Given the description of an element on the screen output the (x, y) to click on. 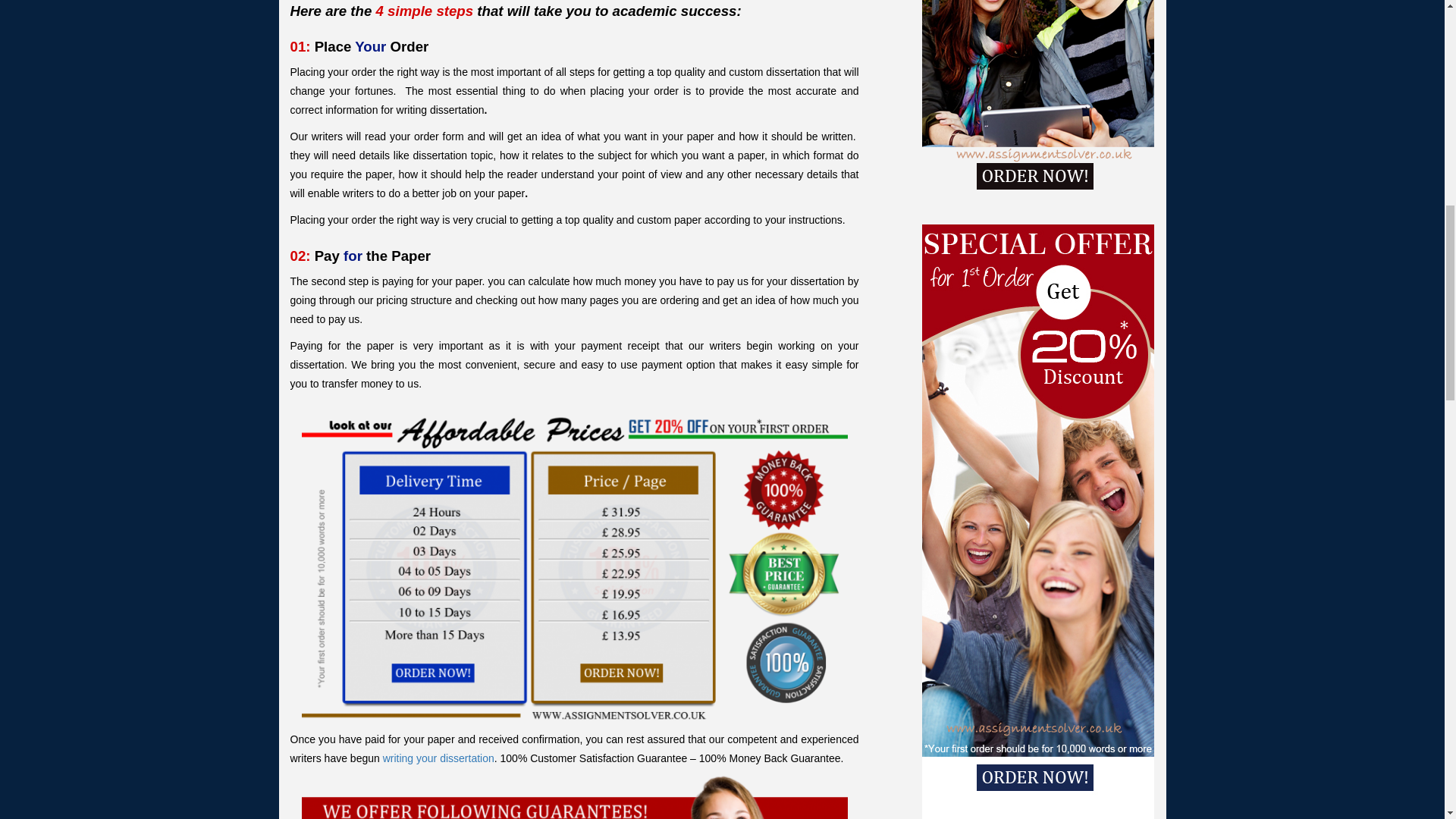
writing your dissertation (438, 758)
